Given the description of an element on the screen output the (x, y) to click on. 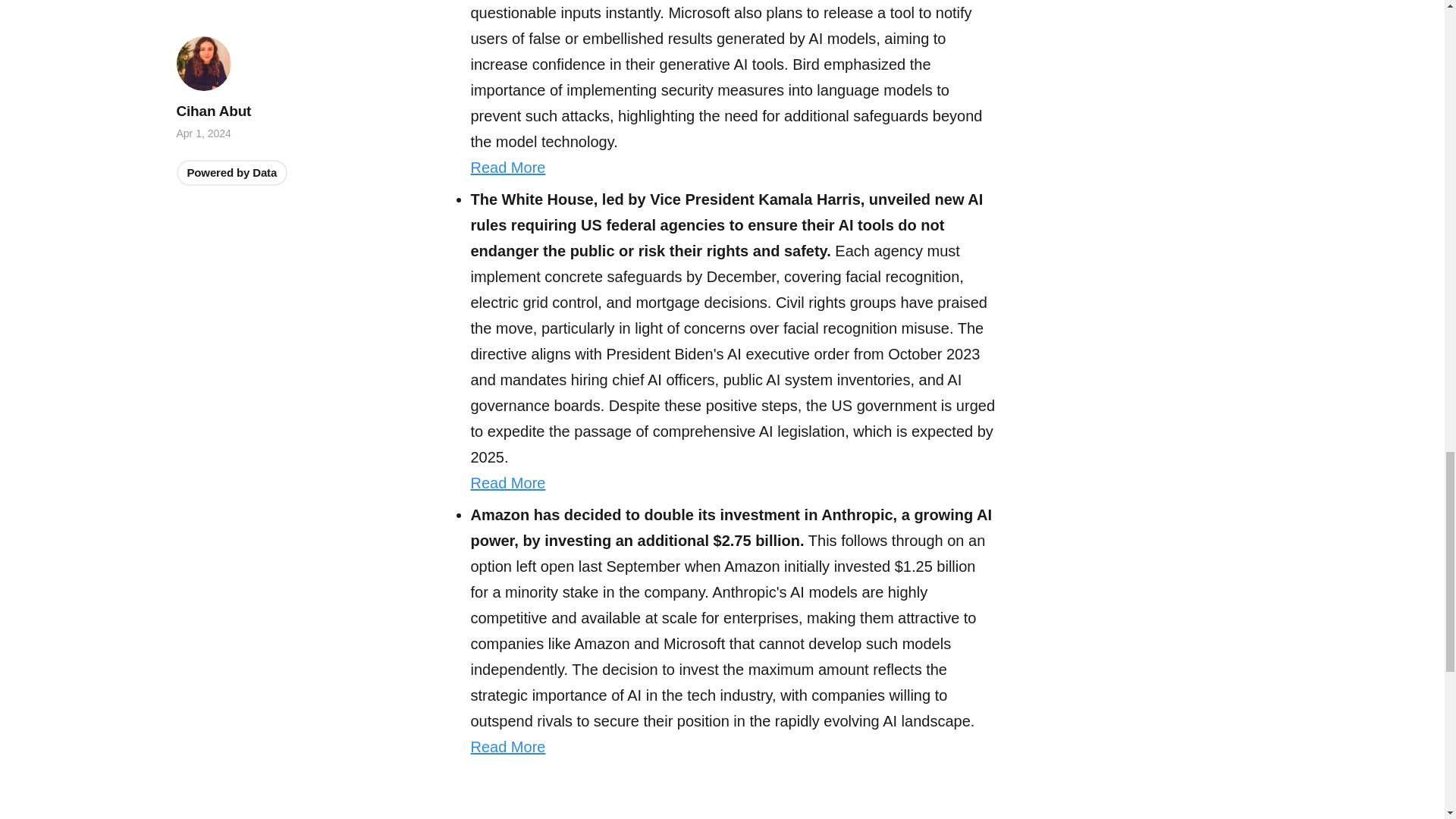
Read More (507, 746)
Read More (507, 167)
Read More (507, 483)
